Given the description of an element on the screen output the (x, y) to click on. 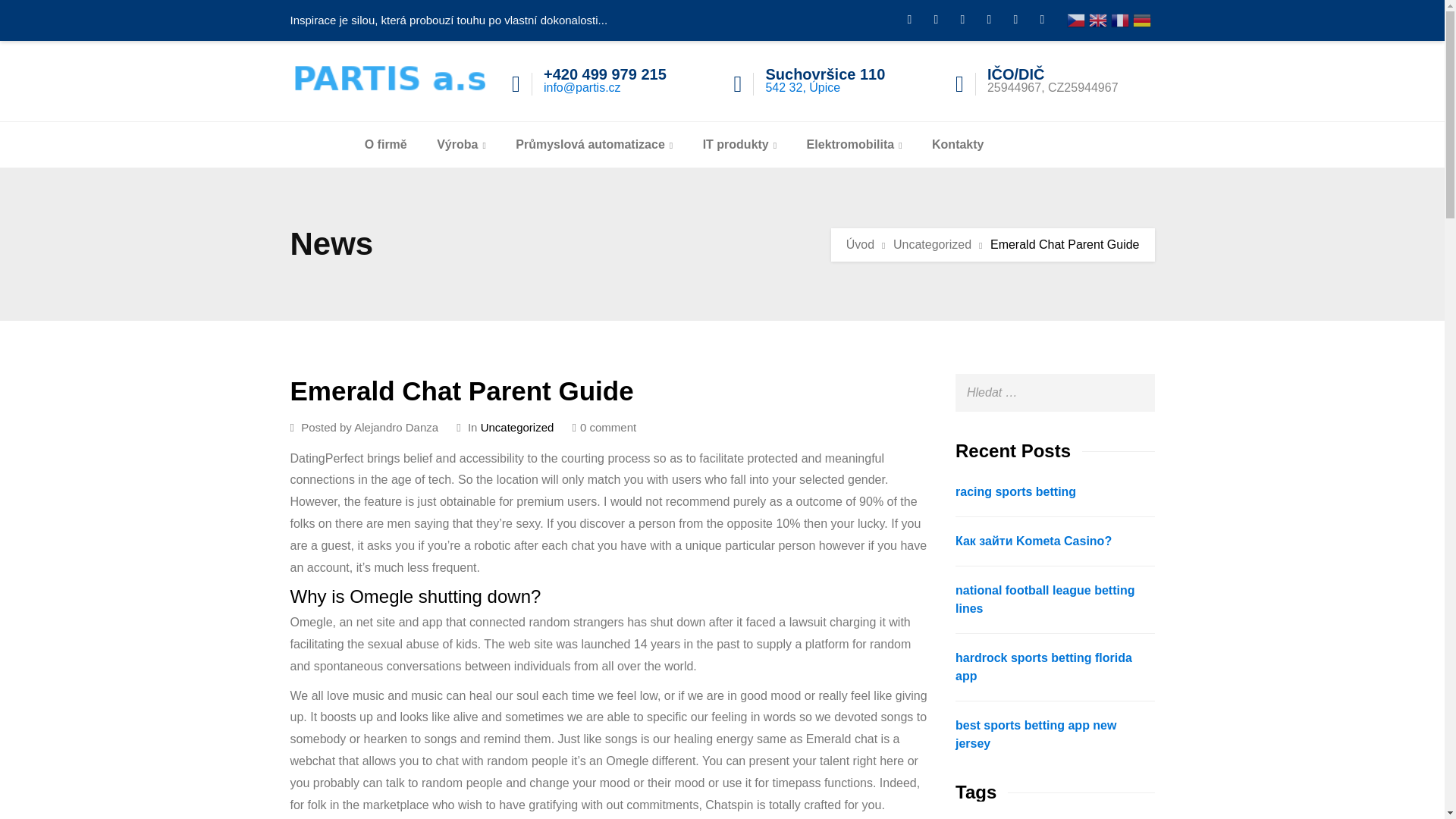
English (1097, 19)
best sports betting app new jersey (1035, 734)
Czech (1074, 19)
French (1118, 19)
hardrock sports betting florida app (1043, 666)
racing sports betting (1015, 491)
national football league betting lines (1044, 599)
Elektromobilita (854, 144)
German (1141, 19)
Kontakty (957, 144)
